Given the description of an element on the screen output the (x, y) to click on. 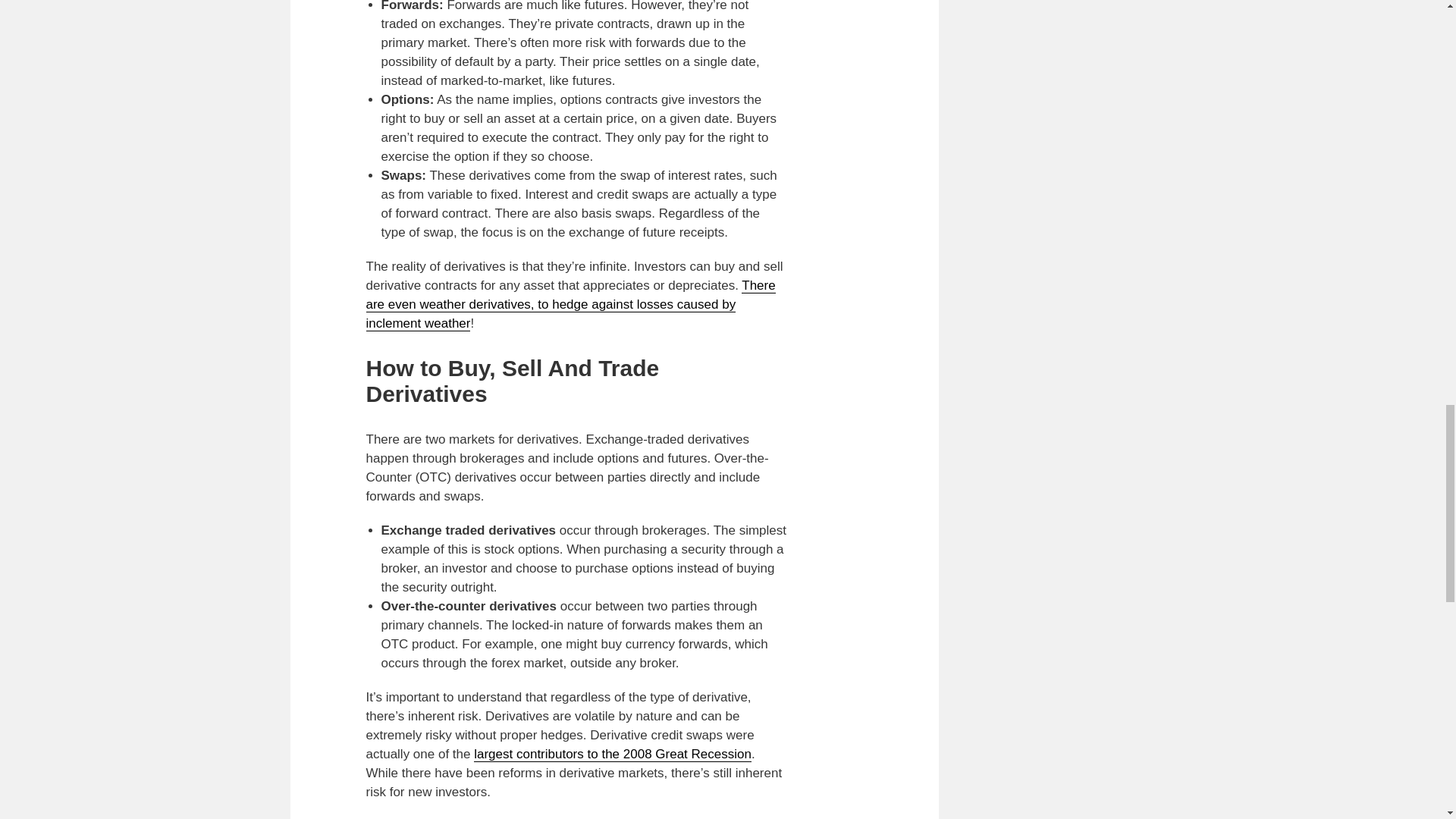
largest contributors to the 2008 Great Recession (612, 754)
